Given the description of an element on the screen output the (x, y) to click on. 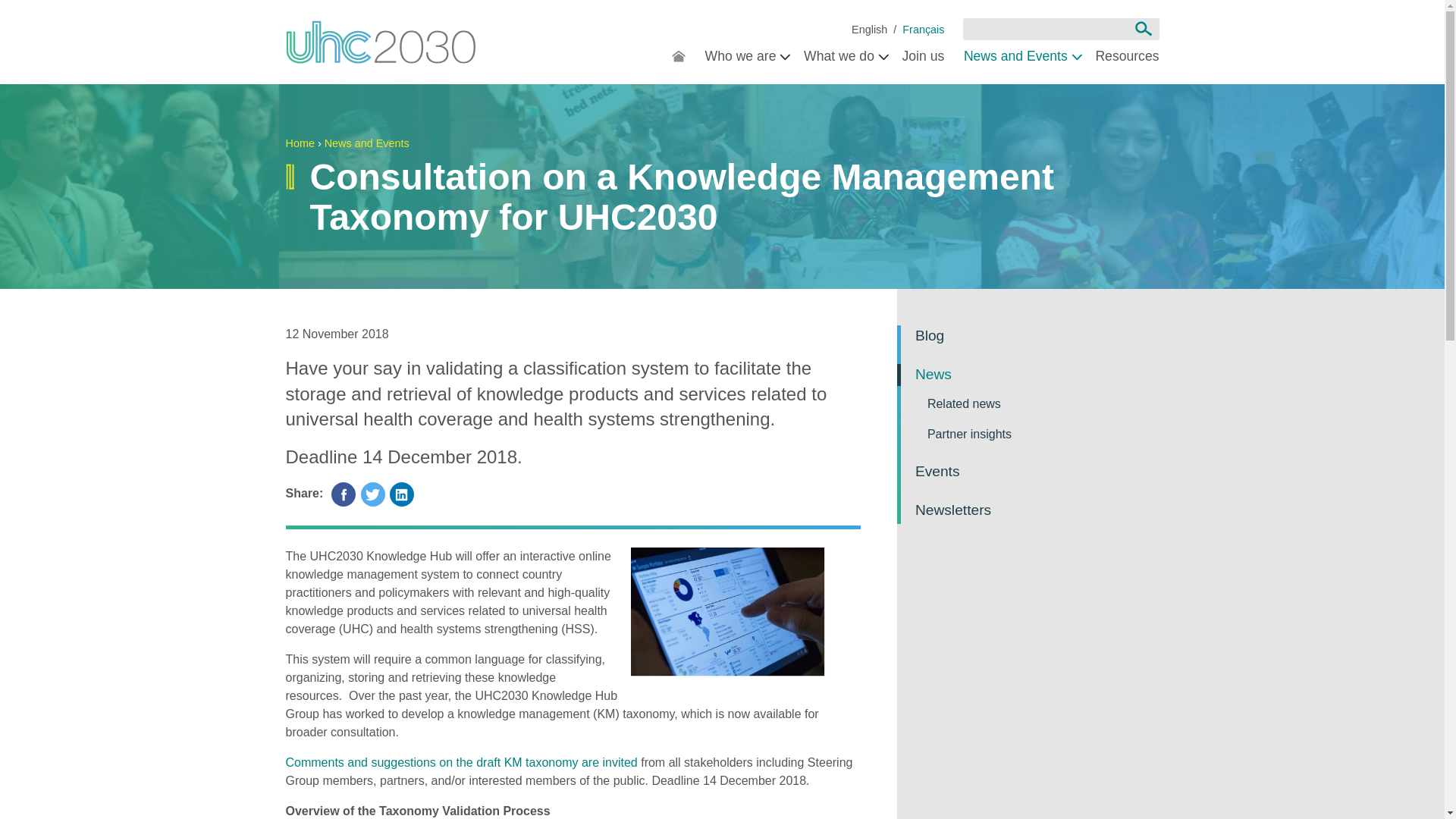
English (868, 30)
News (868, 30)
UHC2030 - UHC2030 (380, 42)
Who we are (744, 57)
Article (922, 30)
Who we are (744, 57)
Search (1142, 29)
What we do (842, 57)
